Given the description of an element on the screen output the (x, y) to click on. 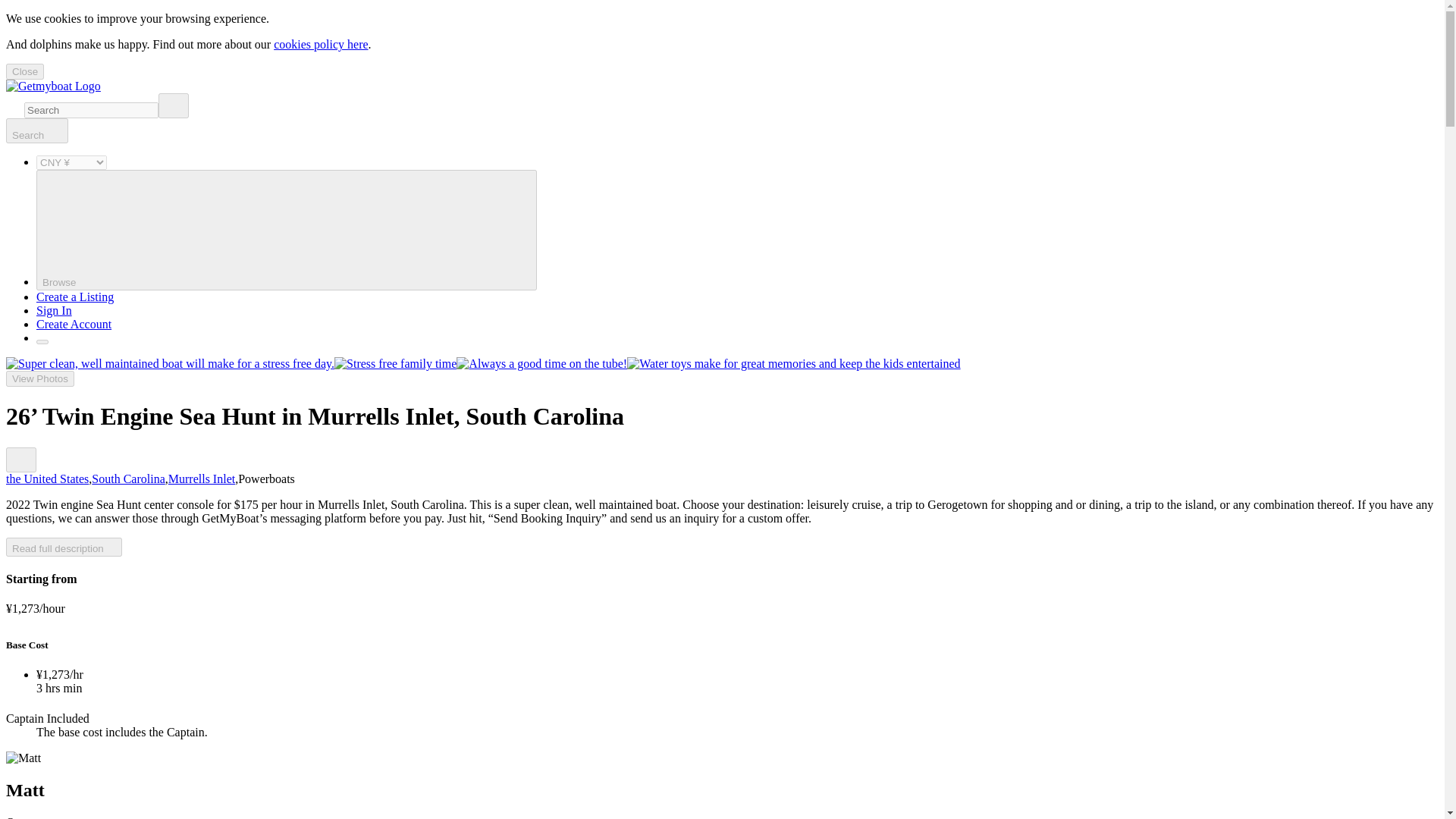
Create Account (74, 323)
Close (24, 71)
Murrells Inlet (201, 478)
Clear (173, 105)
Read full description (63, 546)
Search (36, 130)
cookies policy here (320, 43)
South Carolina (127, 478)
View Photos (39, 378)
Create a Listing (74, 296)
Browse (286, 229)
the United States (46, 478)
Sign In (53, 309)
